Given the description of an element on the screen output the (x, y) to click on. 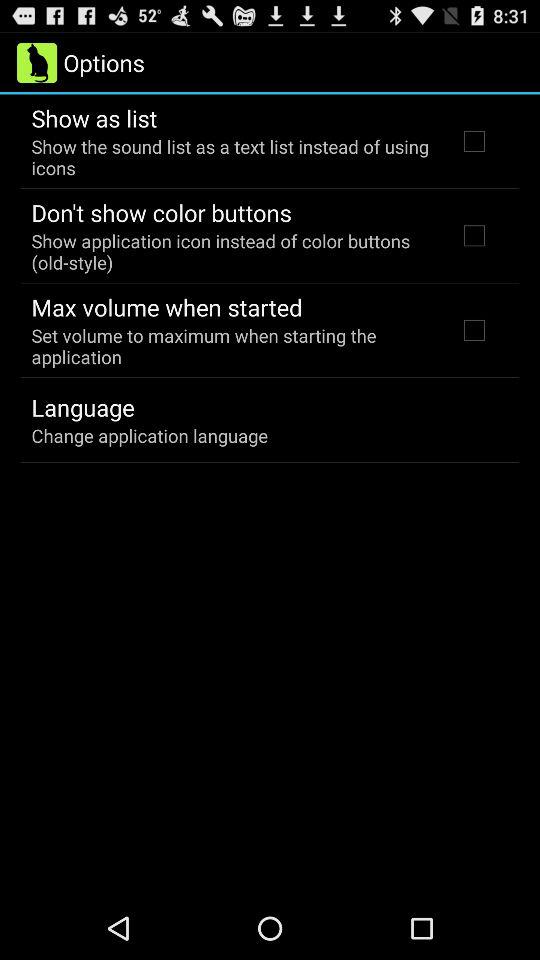
choose the item above the language icon (231, 346)
